Given the description of an element on the screen output the (x, y) to click on. 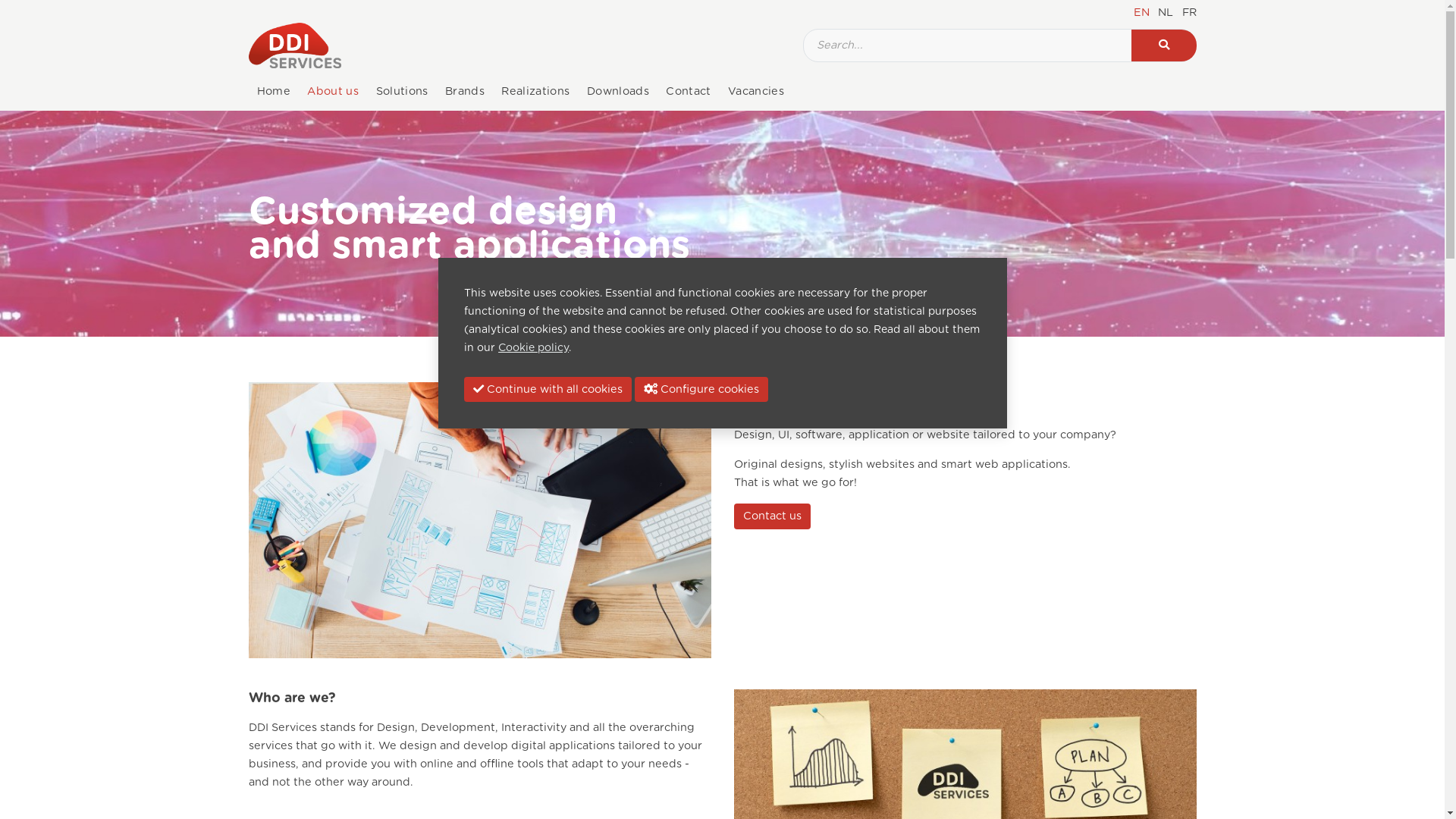
Brands Element type: text (464, 91)
Home Element type: text (273, 91)
Cookie policy Element type: text (533, 347)
Contact Element type: text (688, 91)
Solutions Element type: text (401, 91)
and smart applications Element type: text (469, 246)
Configure cookies Element type: text (701, 389)
About us Element type: text (332, 91)
Downloads Element type: text (617, 91)
Contact us Element type: text (772, 516)
Customized design Element type: text (432, 212)
Continue with all cookies Element type: text (547, 389)
Vacancies Element type: text (755, 91)
Realizations Element type: text (534, 91)
